Given the description of an element on the screen output the (x, y) to click on. 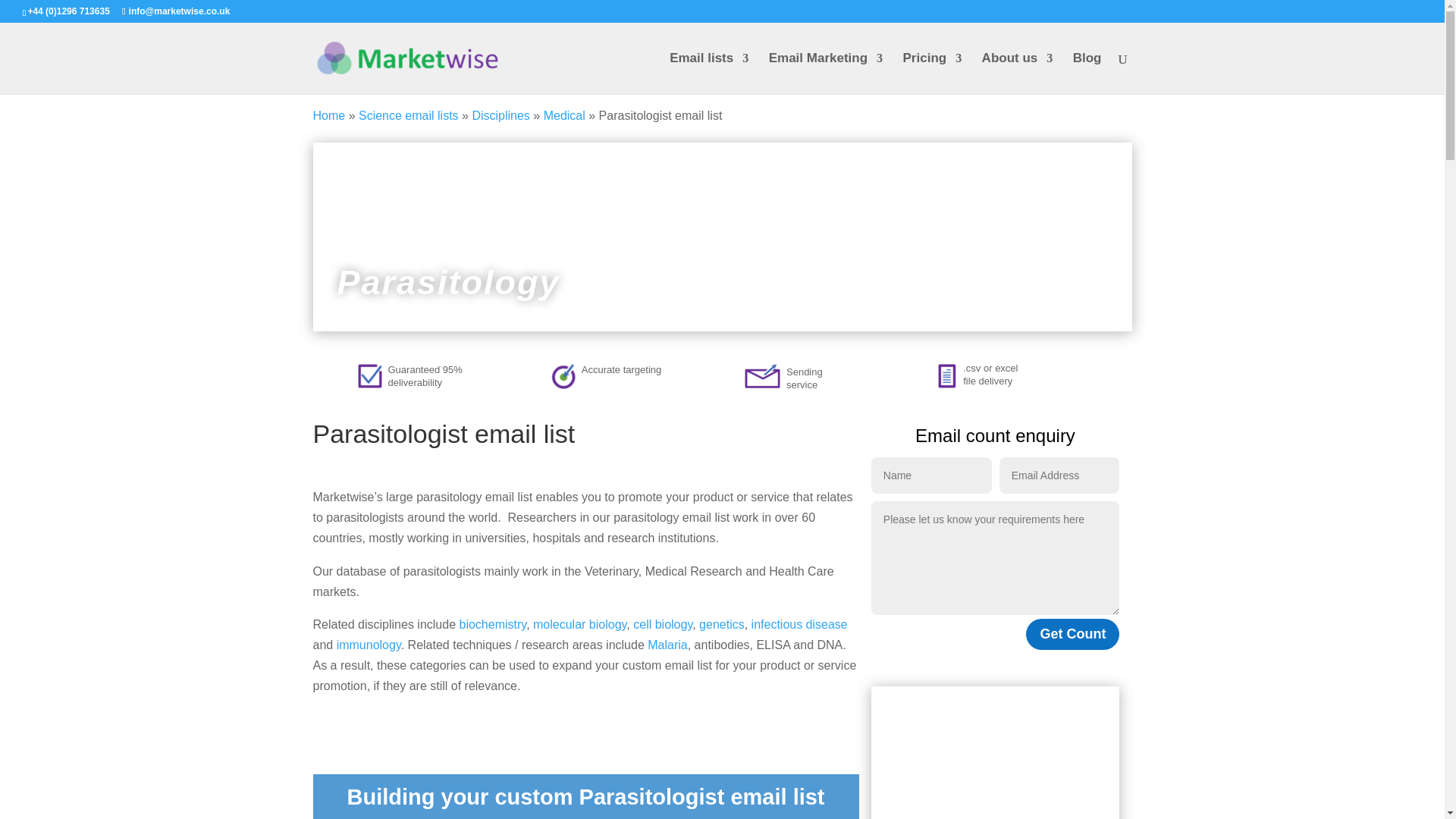
Email lists (708, 73)
About us (1016, 73)
Tick box (369, 375)
Home (329, 115)
Accurate targeting (563, 376)
Mail service (762, 375)
Pricing (932, 73)
Email Marketing (825, 73)
